Given the description of an element on the screen output the (x, y) to click on. 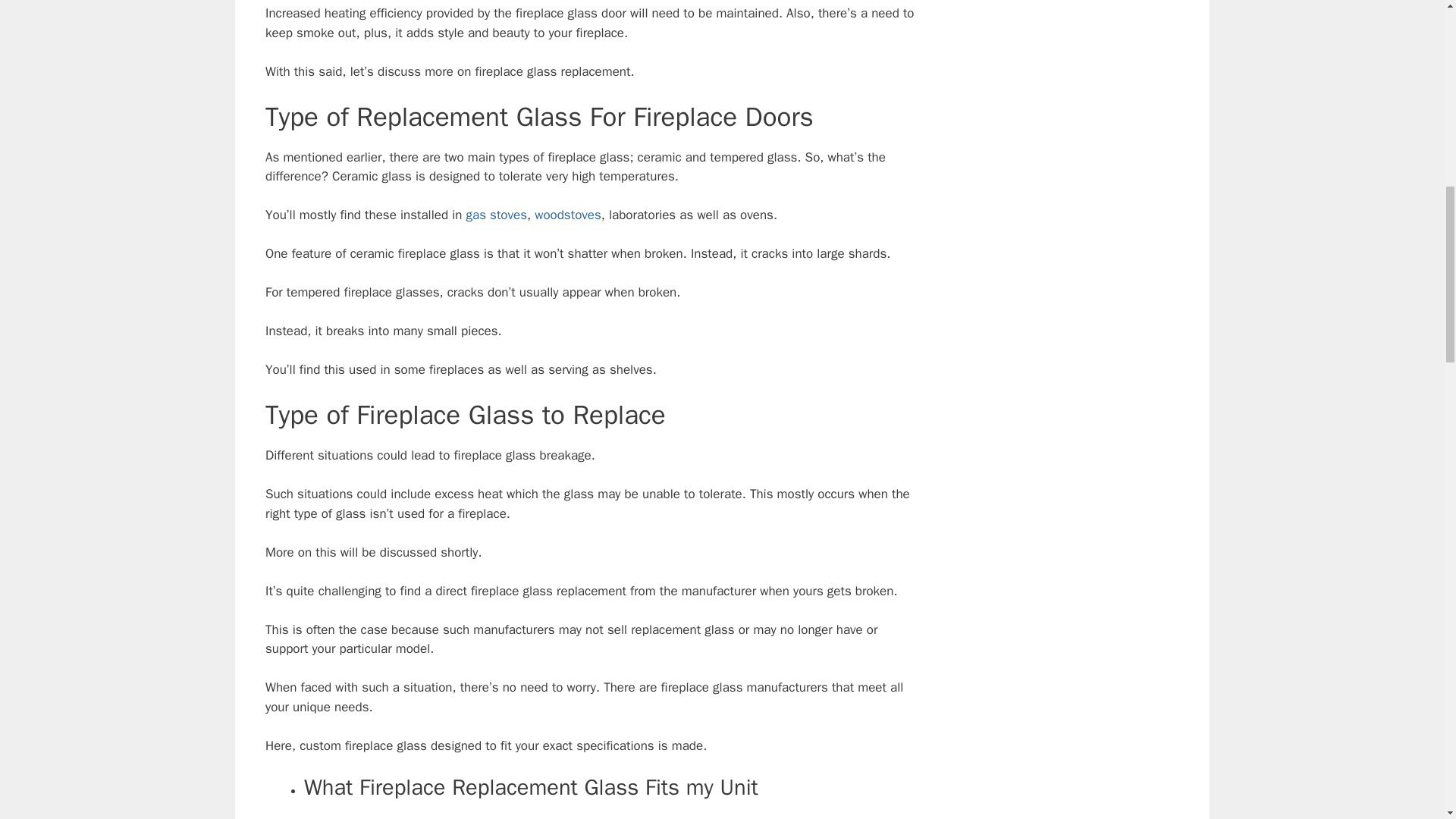
Scroll back to top (1406, 720)
gas stoves (495, 214)
woodstoves (567, 214)
